Given the description of an element on the screen output the (x, y) to click on. 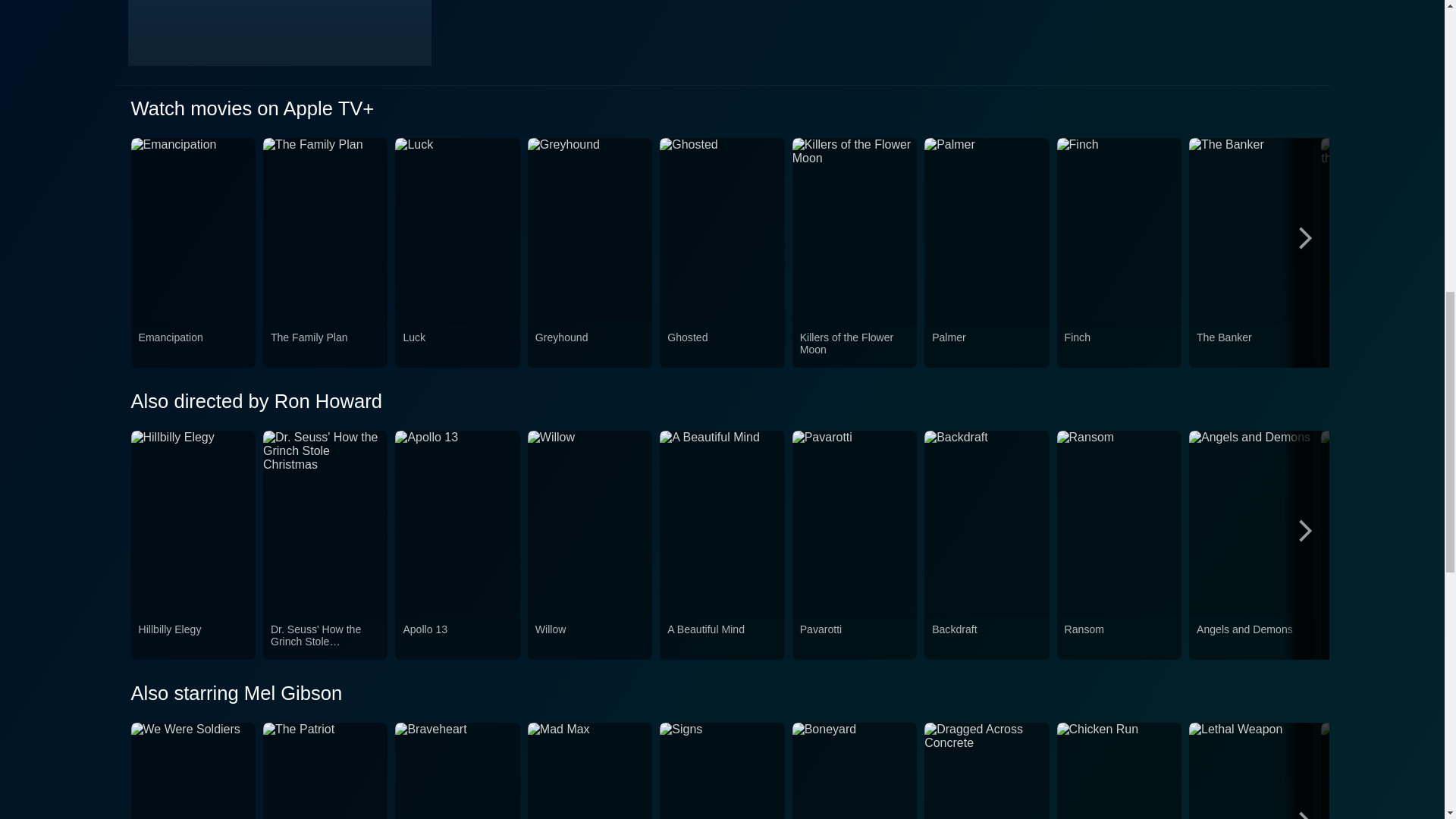
Killers of the Flower Moon (853, 346)
Finch (1118, 346)
Greyhound (590, 346)
Pavarotti (853, 638)
Palmer (986, 346)
The Family Plan (325, 346)
Willow (590, 638)
The Boy, the Mole, the Fox and the Horse (1382, 346)
Hillbilly Elegy (192, 638)
Apollo 13 (457, 638)
Emancipation (192, 346)
Luck (457, 346)
A Beautiful Mind (721, 638)
The Banker (1251, 346)
Dr. Seuss' How the Grinch Stole Christmas (325, 638)
